Given the description of an element on the screen output the (x, y) to click on. 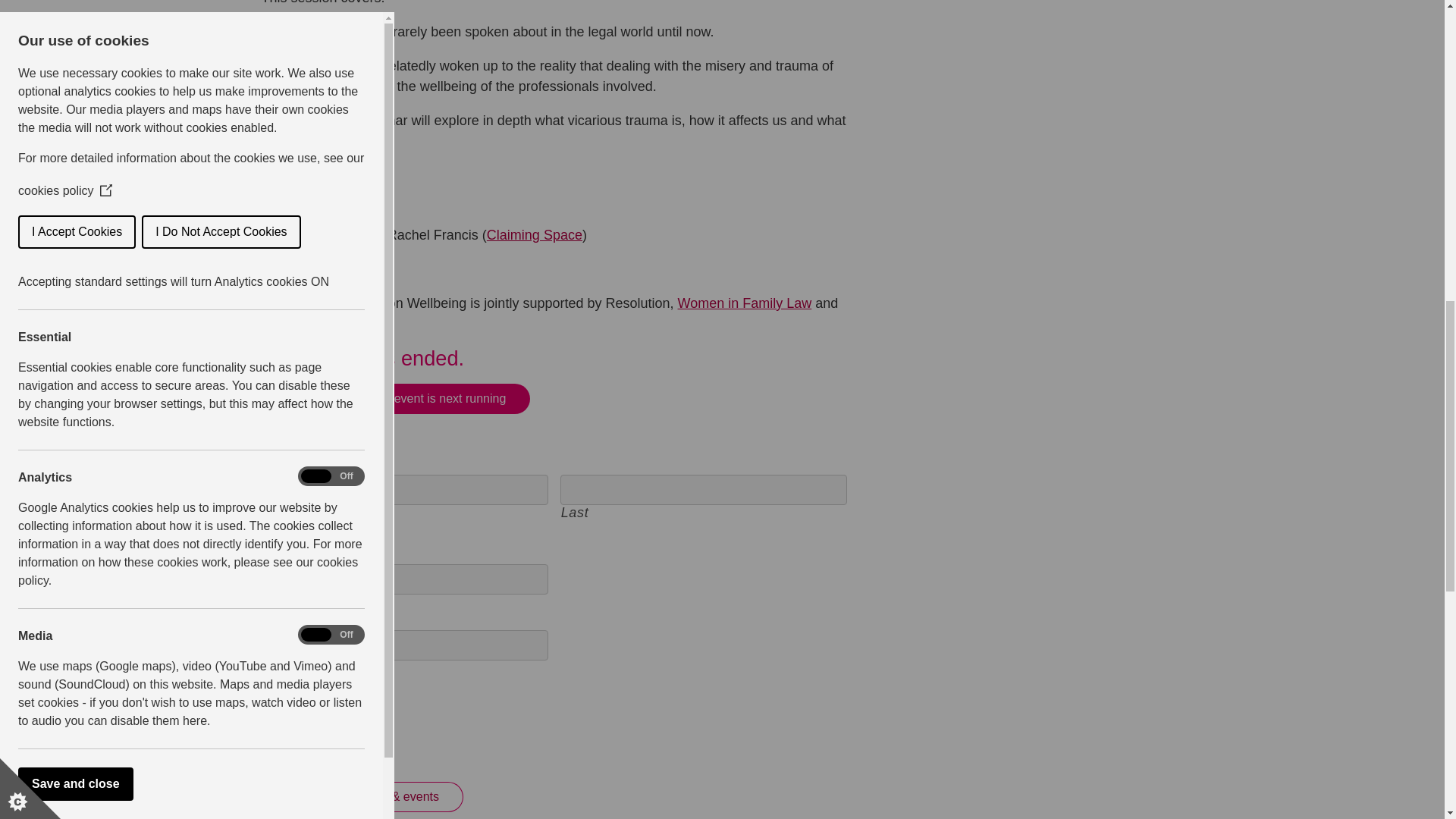
Submit (304, 734)
